Given the description of an element on the screen output the (x, y) to click on. 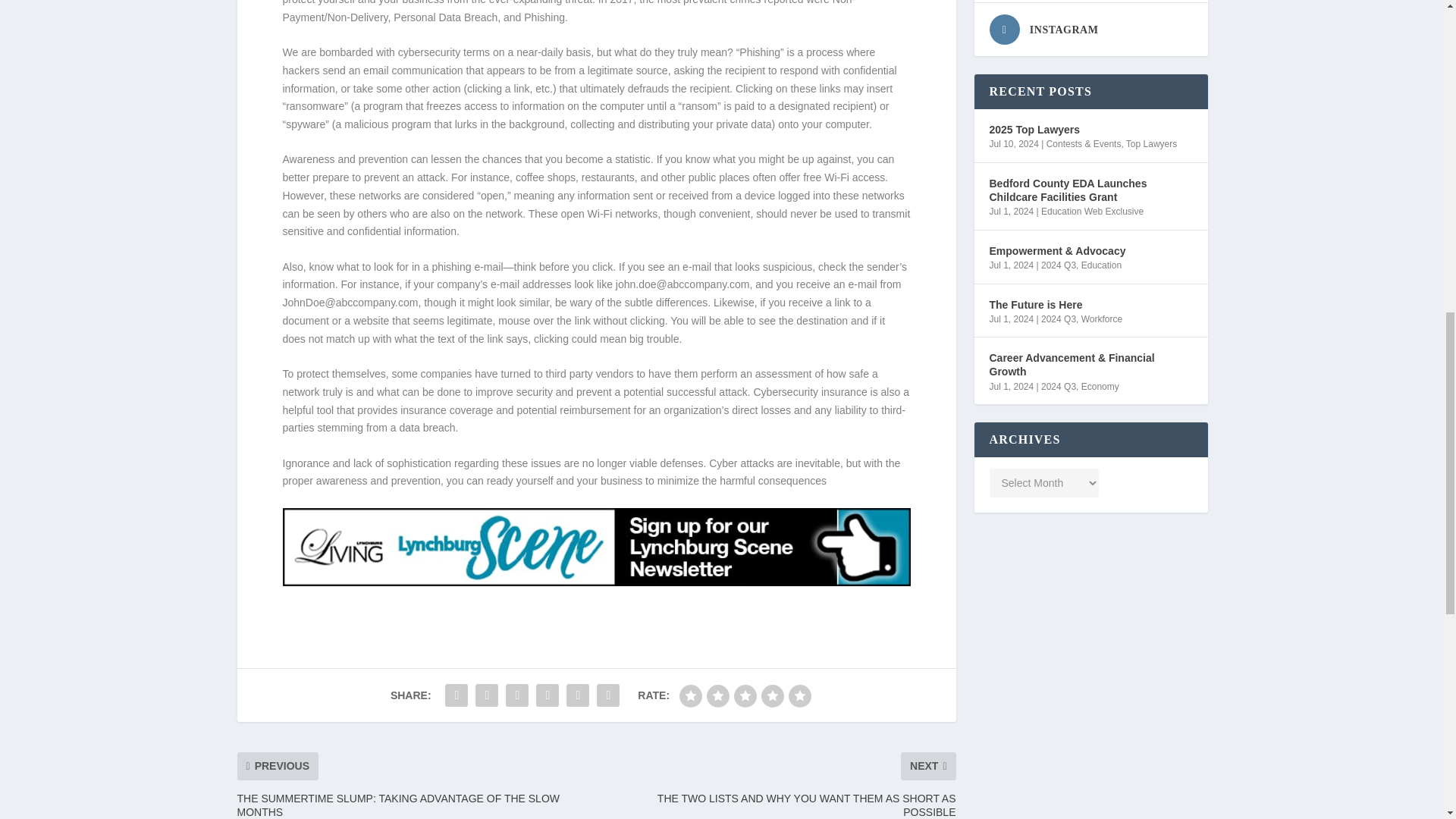
good (772, 695)
gorgeous (799, 695)
regular (745, 695)
poor (717, 695)
bad (690, 695)
